Given the description of an element on the screen output the (x, y) to click on. 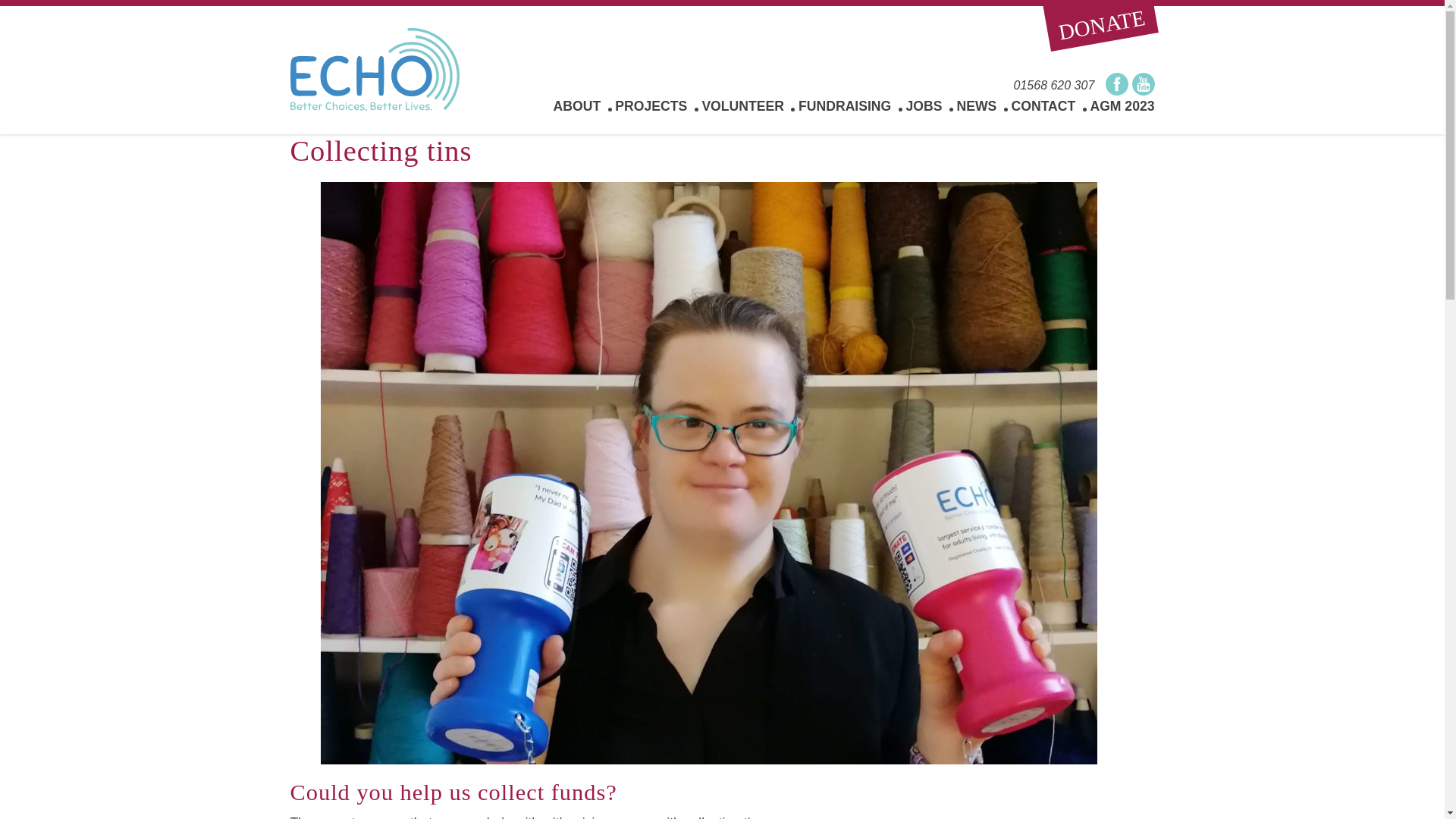
VOLUNTEER (742, 105)
ECHO Herefordshire (373, 69)
JOBS (923, 105)
FUNDRAISING (844, 105)
PROJECTS (650, 105)
ABOUT (577, 105)
DONATE (1096, 16)
Find ECHO Herefordshire on Youtube (1142, 83)
Find ECHO Herefordshire on Facebook (1116, 83)
